Given the description of an element on the screen output the (x, y) to click on. 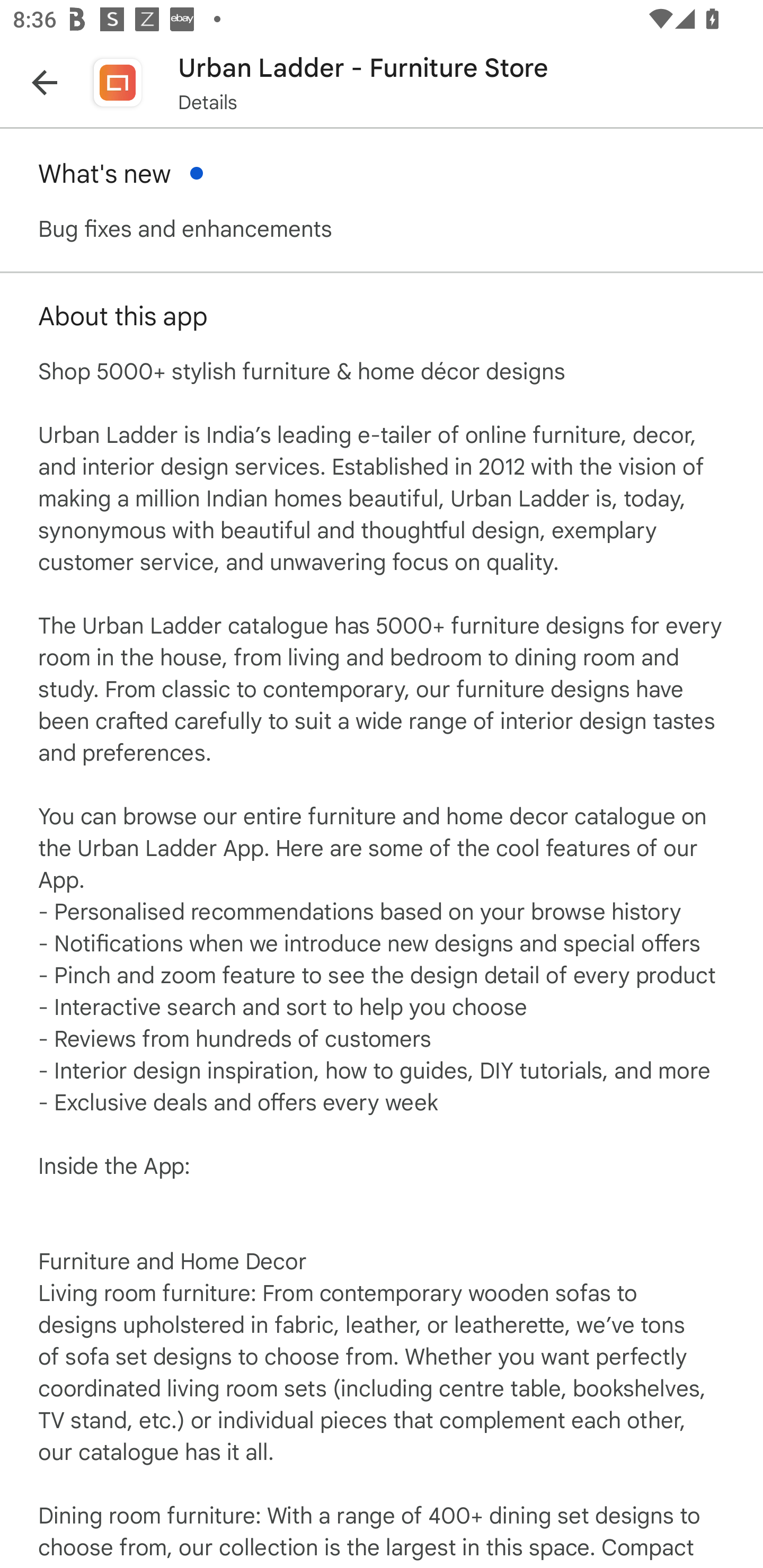
Navigate up (44, 82)
